Given the description of an element on the screen output the (x, y) to click on. 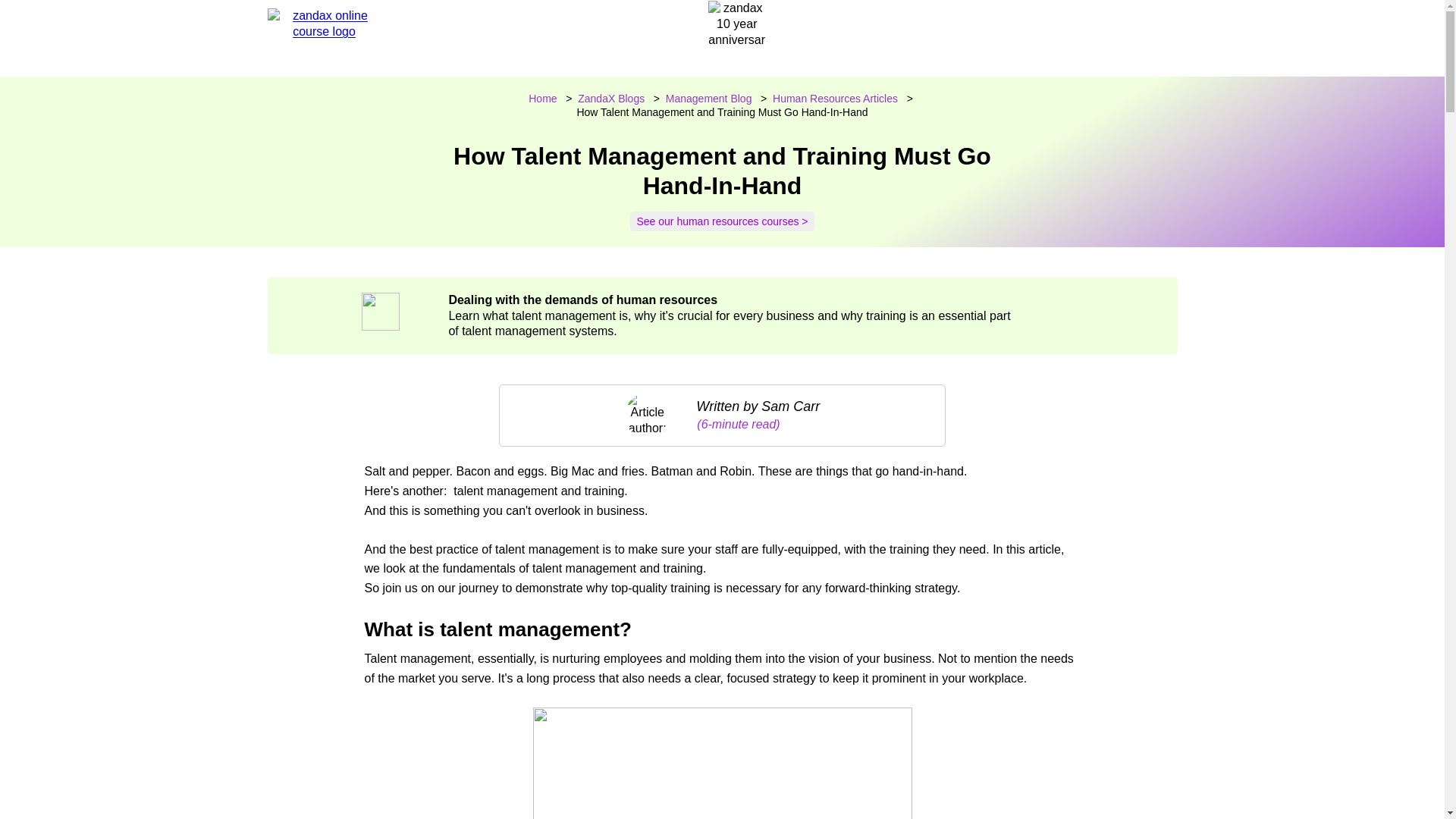
ZandaX Blogs (611, 98)
Human Resources Articles (835, 98)
Home (542, 98)
Management Blog (708, 98)
